Given the description of an element on the screen output the (x, y) to click on. 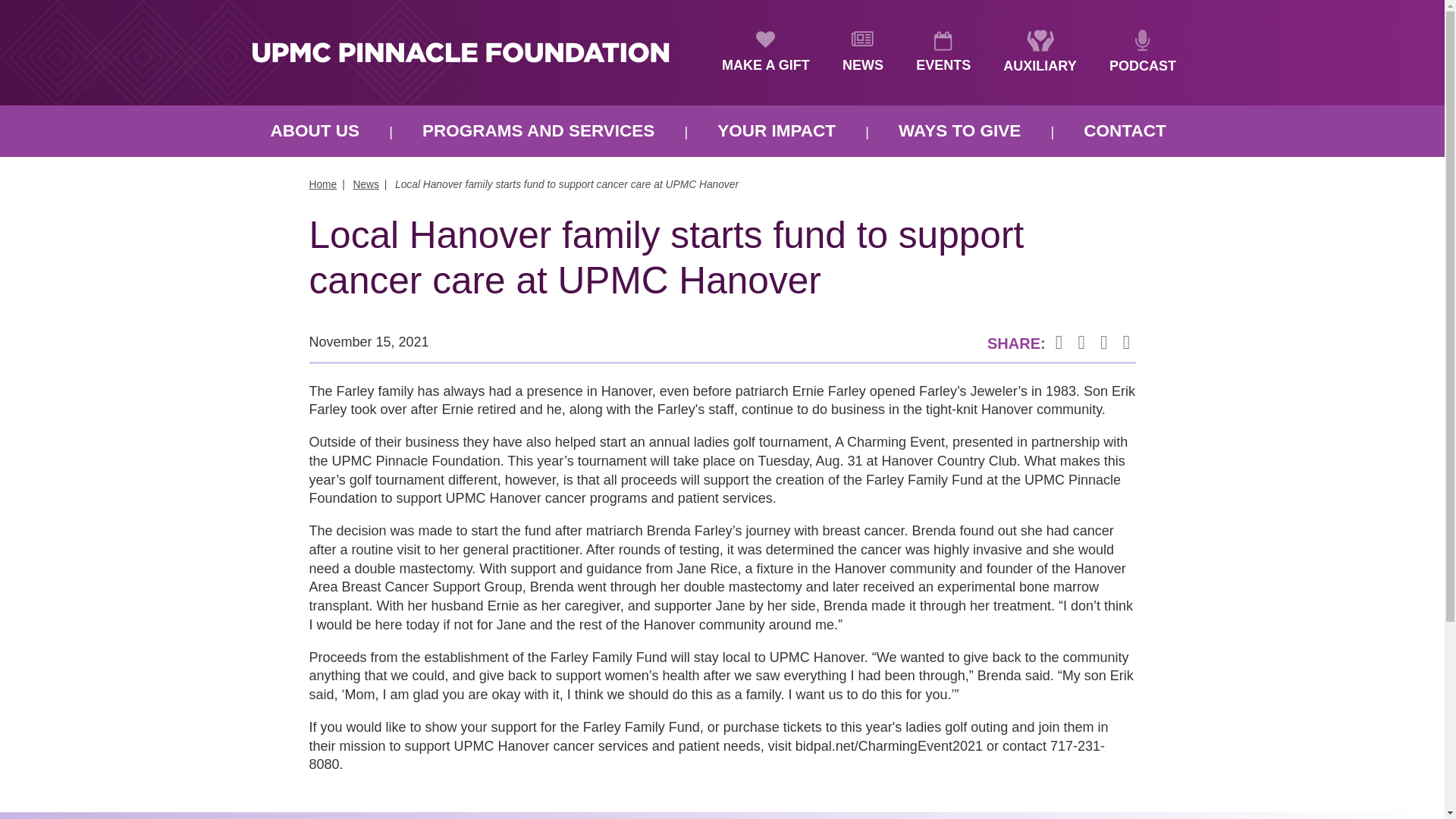
PODCAST (1142, 52)
AUXILIARY (1039, 52)
Share on Facebook (1058, 343)
Share on LinkedIn (1103, 343)
NEWS (863, 53)
Email (1125, 343)
Tweet (1080, 343)
PROGRAMS AND SERVICES (537, 131)
ABOUT US (314, 131)
YOUR IMPACT (777, 131)
MAKE A GIFT (765, 53)
EVENTS (943, 53)
Back to Home Page (459, 51)
Skip to main content (94, 3)
